Given the description of an element on the screen output the (x, y) to click on. 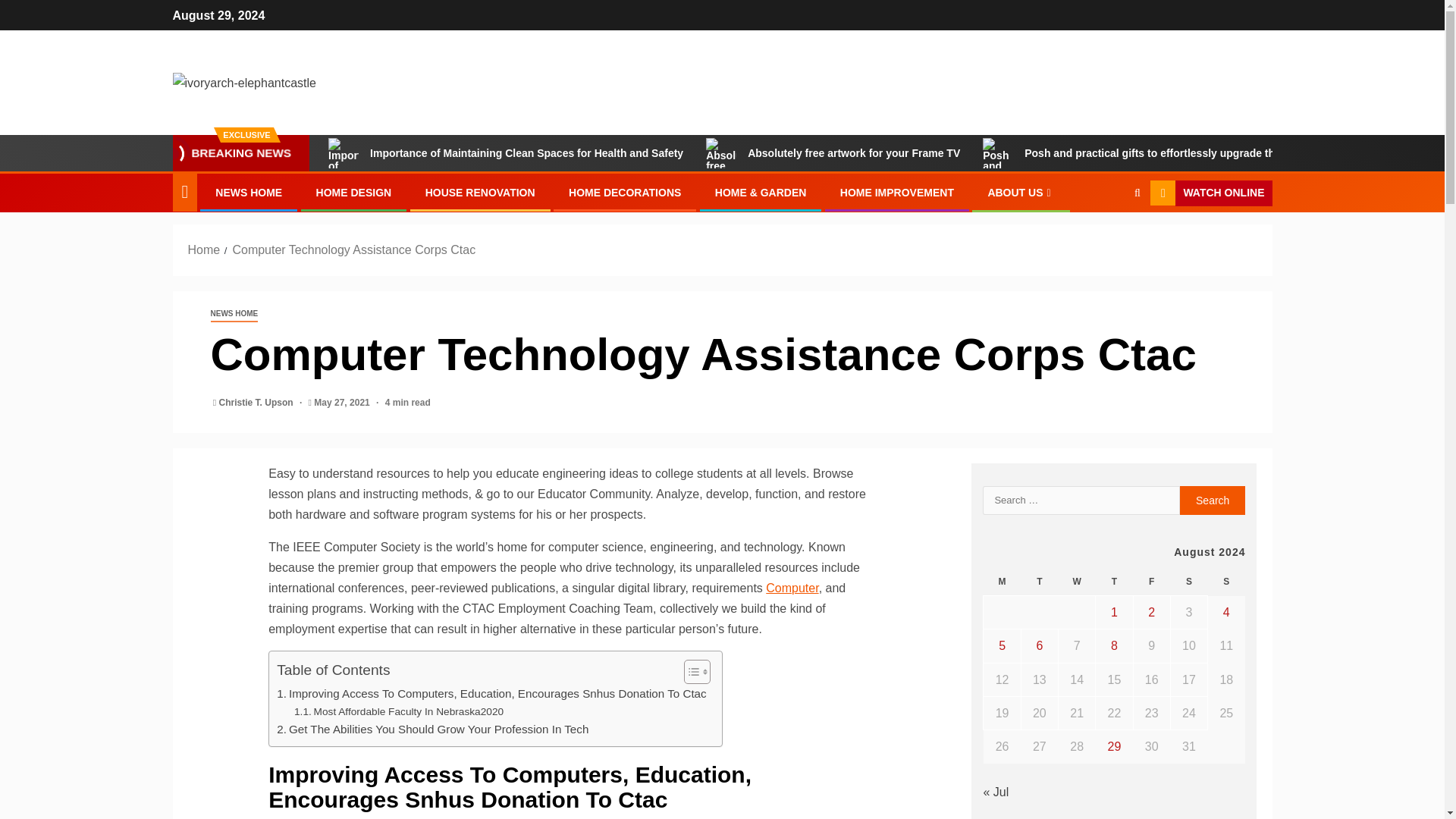
HOME DECORATIONS (625, 192)
Get The Abilities You Should Grow Your Profession In Tech (432, 729)
Importance of Maintaining Clean Spaces for Health and Safety (505, 153)
HOUSE RENOVATION (480, 192)
Absolutely free artwork for your Frame TV (832, 153)
Saturday (1188, 582)
Friday (1151, 582)
Monday (1002, 582)
Get The Abilities You Should Grow Your Profession In Tech (432, 729)
Computer (791, 587)
